Given the description of an element on the screen output the (x, y) to click on. 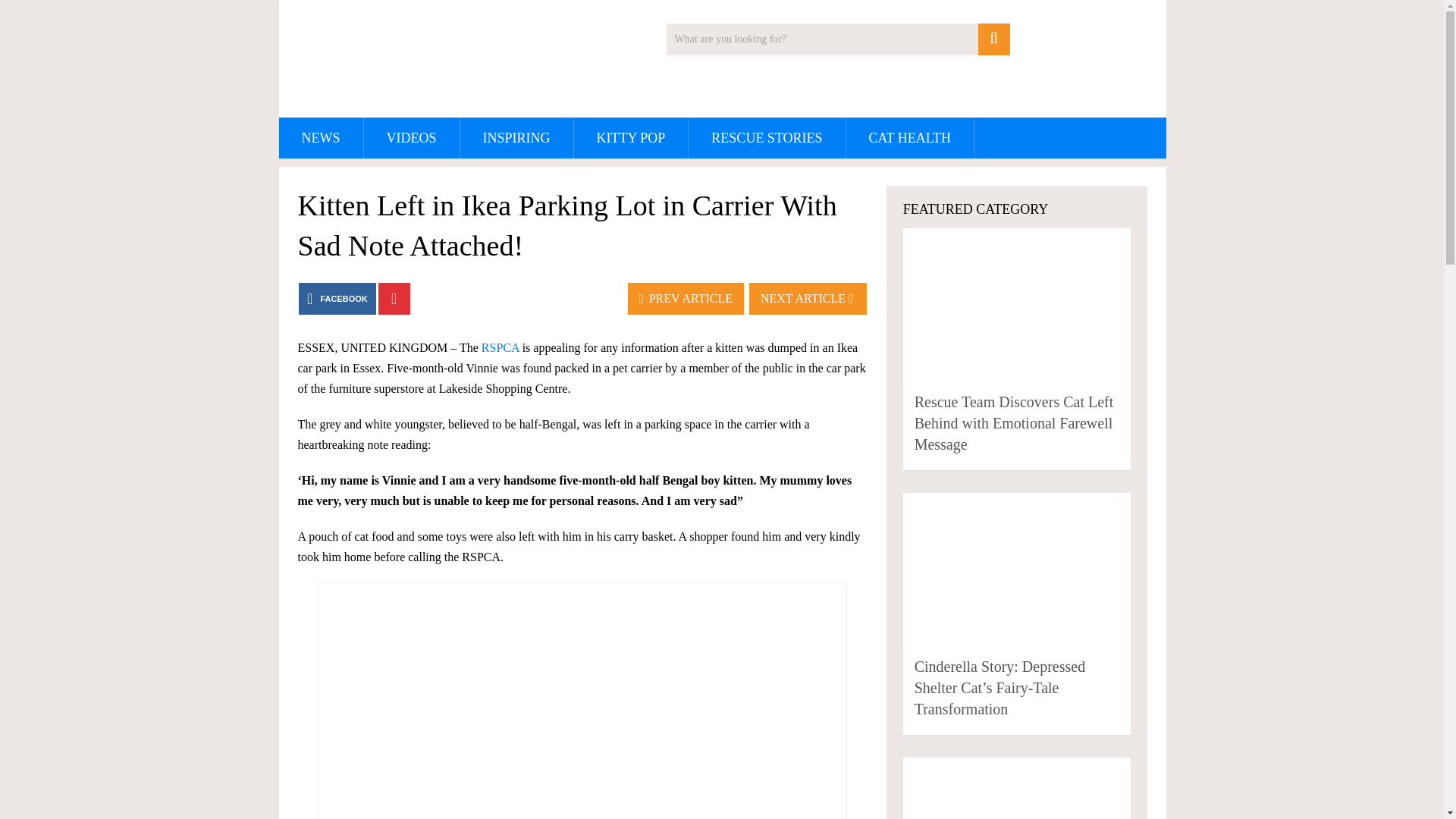
FACEBOOK (336, 298)
VIDEOS (412, 137)
CAT HEALTH (909, 137)
INSPIRING (516, 137)
KITTY POP (630, 137)
RSPCA (500, 347)
RESCUE STORIES (766, 137)
NEWS (320, 137)
NEXT ARTICLE (807, 298)
PREV ARTICLE (685, 298)
